Given the description of an element on the screen output the (x, y) to click on. 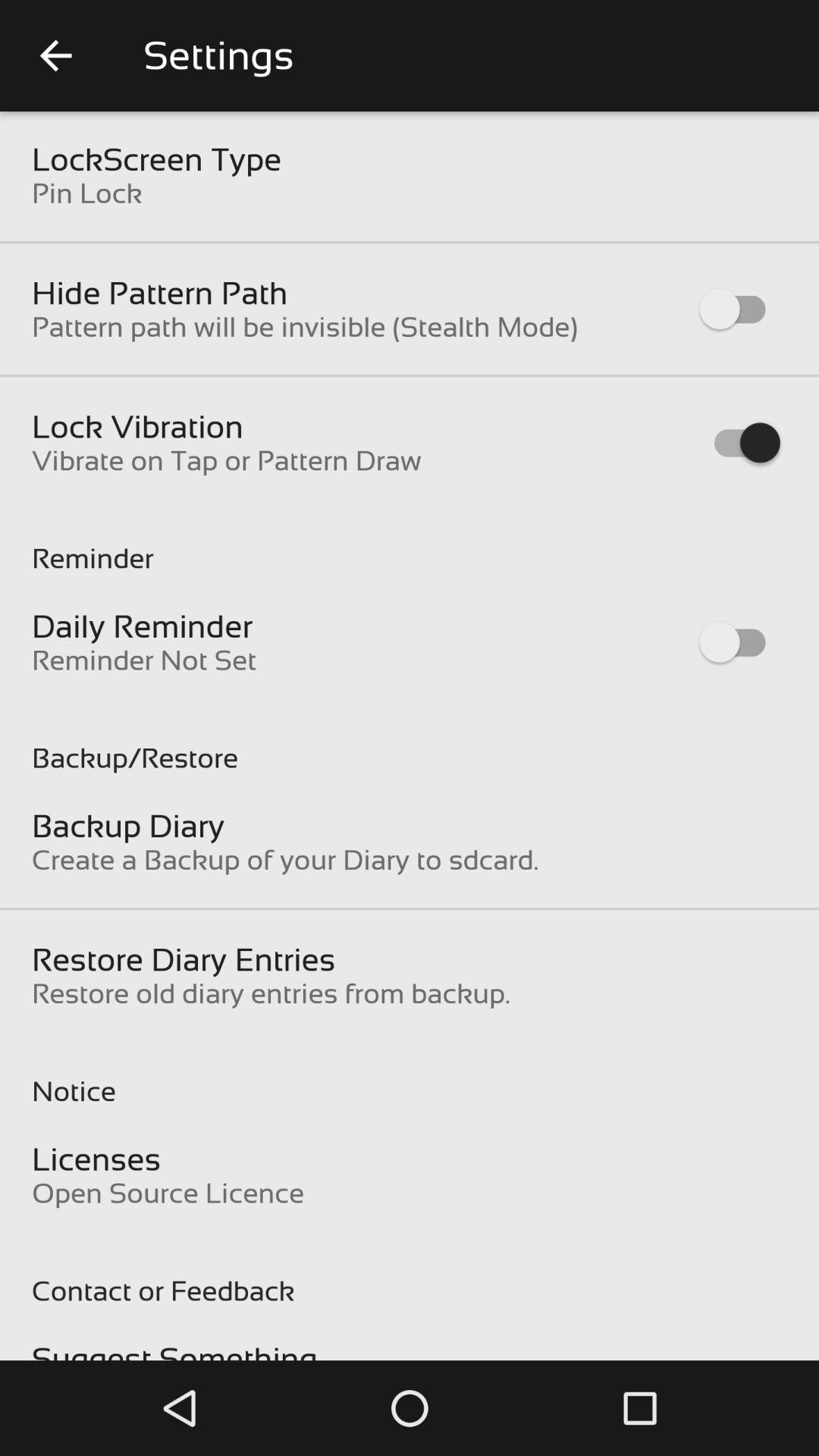
tap the suggest something (174, 1350)
